Given the description of an element on the screen output the (x, y) to click on. 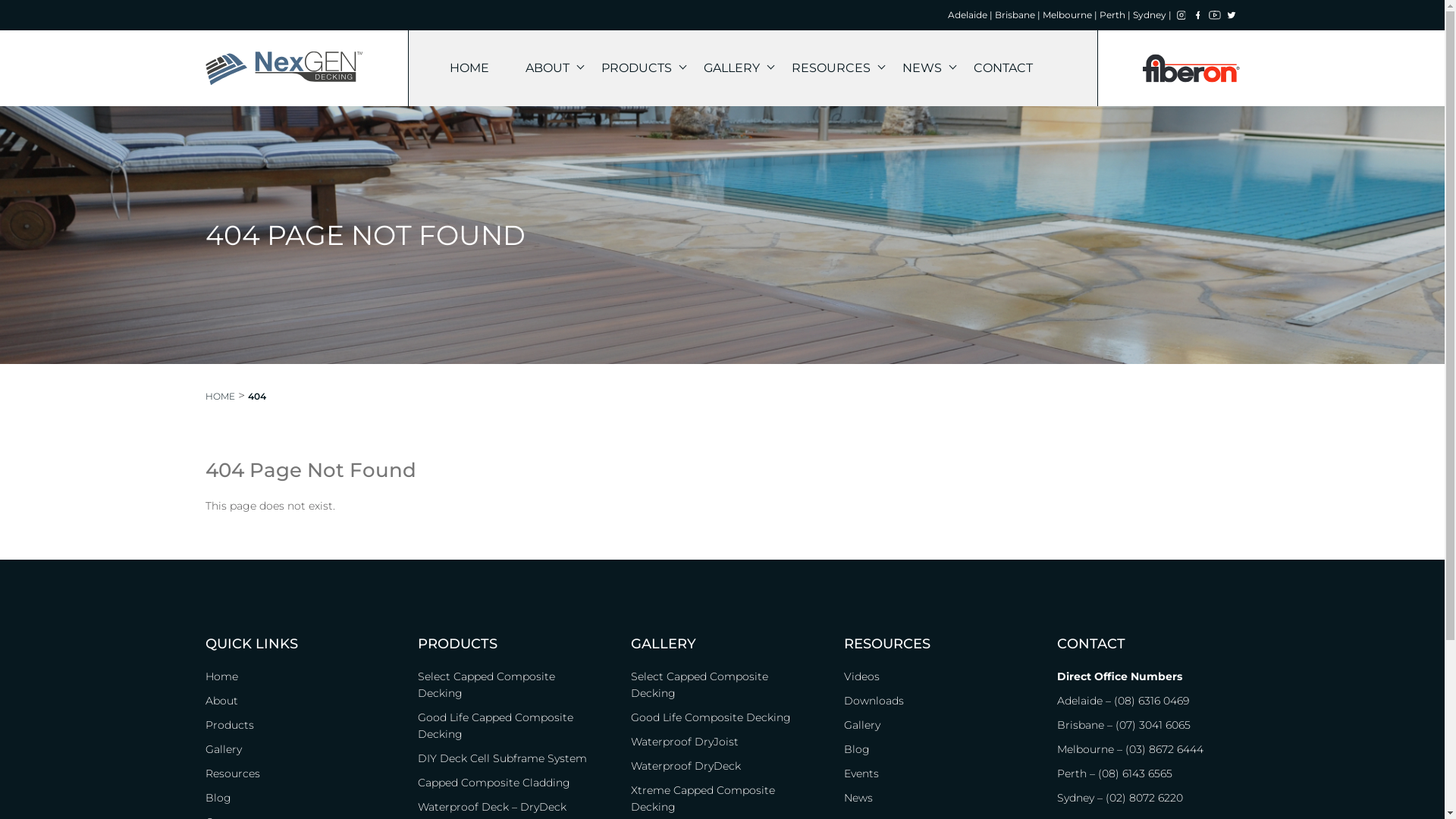
(08) 6316 0469 Element type: text (1151, 700)
(03) 8672 6444 Element type: text (1164, 749)
(07) 3041 6065 Element type: text (1152, 724)
Xtreme Capped Composite Decking Element type: text (721, 798)
Downloads Element type: text (935, 700)
(02) 8072 6220 Element type: text (1144, 797)
Home Element type: text (295, 676)
Select Capped Composite Decking Element type: text (508, 684)
Select Capped Composite Decking Element type: text (721, 684)
HOME Element type: text (219, 395)
Gallery Element type: text (295, 748)
NEWS Element type: text (919, 68)
Capped Composite Cladding Element type: text (508, 782)
Events Element type: text (935, 773)
PRODUCTS Element type: text (633, 68)
Gallery Element type: text (935, 724)
Blog Element type: text (935, 748)
Good Life Composite Decking Element type: text (721, 717)
Videos Element type: text (935, 676)
CONTACT Element type: text (1003, 68)
Waterproof DryJoist Element type: text (721, 741)
HOME Element type: text (468, 68)
Blog Element type: text (295, 797)
Resources Element type: text (295, 773)
Perth Element type: text (1071, 773)
(08) 6143 6565 Element type: text (1135, 773)
About Element type: text (295, 700)
News Element type: text (935, 797)
ABOUT Element type: text (544, 68)
Products Element type: text (295, 724)
DIY Deck Cell Subframe System Element type: text (508, 757)
Good Life Capped Composite Decking Element type: text (508, 725)
RESOURCES Element type: text (828, 68)
Waterproof DryDeck Element type: text (721, 765)
GALLERY Element type: text (729, 68)
